Given the description of an element on the screen output the (x, y) to click on. 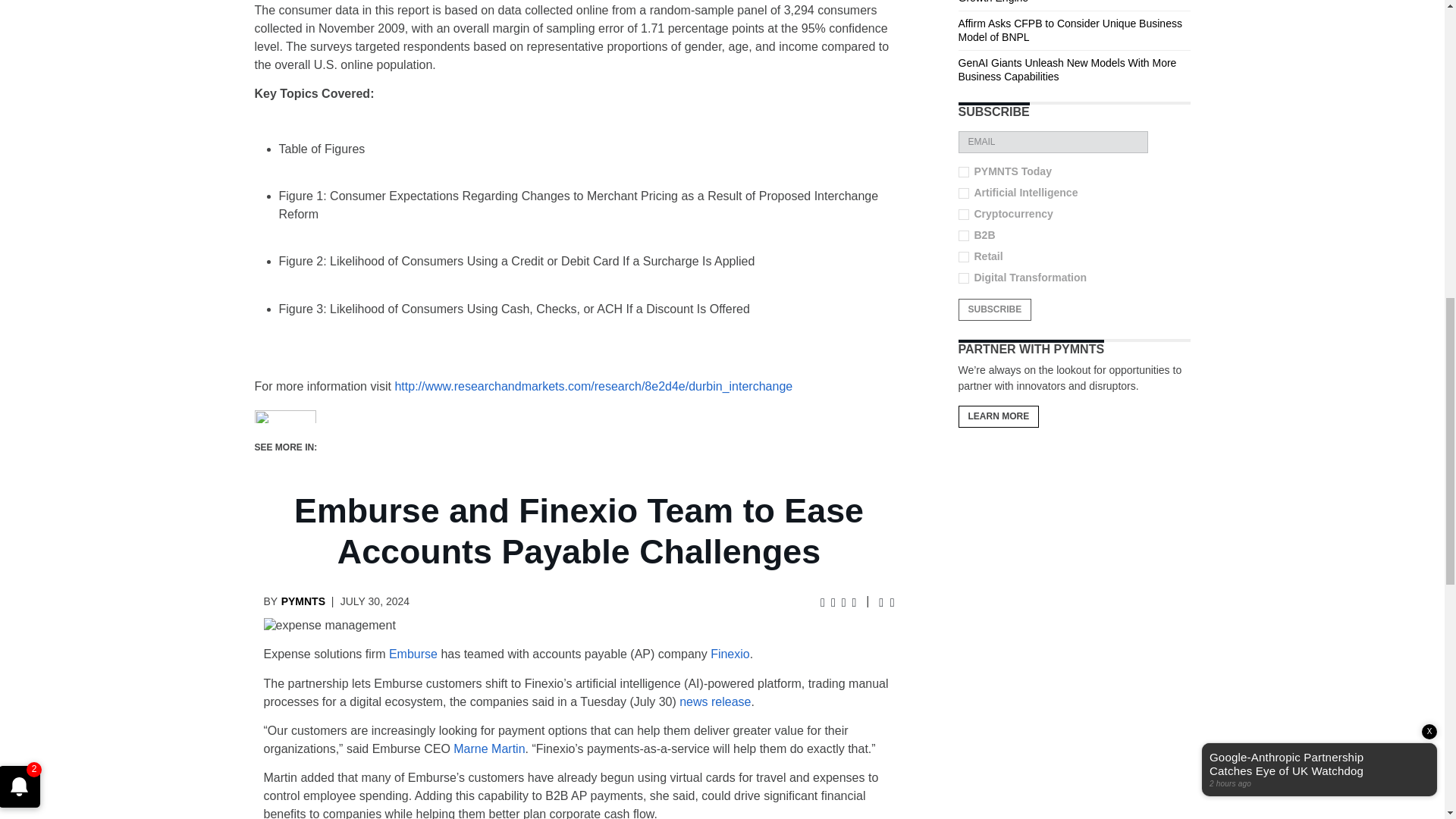
1 (963, 172)
1 (963, 235)
1 (963, 193)
Posts by PYMNTS (302, 601)
1 (963, 214)
1 (963, 256)
1 (963, 277)
